Given the description of an element on the screen output the (x, y) to click on. 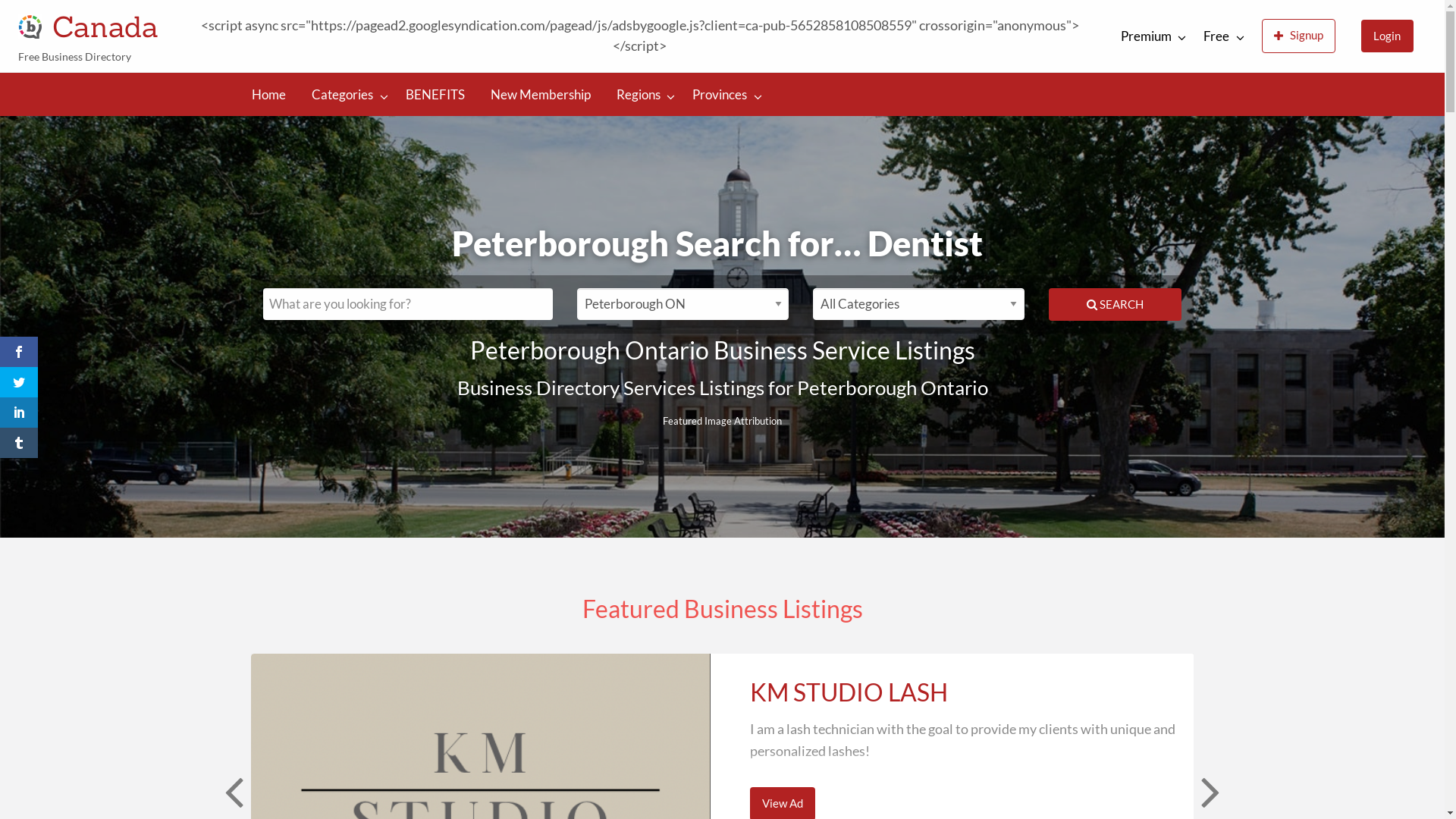
Categories Element type: text (345, 93)
Signup Element type: text (1298, 35)
Regions Element type: text (641, 93)
BENEFITS Element type: text (434, 93)
Provinces Element type: text (284, 84)
Signup Element type: text (1298, 35)
Provinces Element type: text (722, 93)
SEARCH Element type: text (1114, 304)
Home Element type: text (268, 93)
Featured Image Attribution Element type: text (721, 416)
Login Element type: text (1387, 35)
New Membership Element type: text (540, 93)
Premium Element type: text (1149, 35)
Next Element type: text (1208, 790)
Previous Element type: text (231, 790)
KM STUDIO LASH Element type: text (848, 691)
Canada Element type: text (105, 25)
Login Element type: text (1387, 35)
Regions Element type: text (199, 84)
Free Element type: text (1219, 35)
New Membership Element type: text (108, 84)
